Given the description of an element on the screen output the (x, y) to click on. 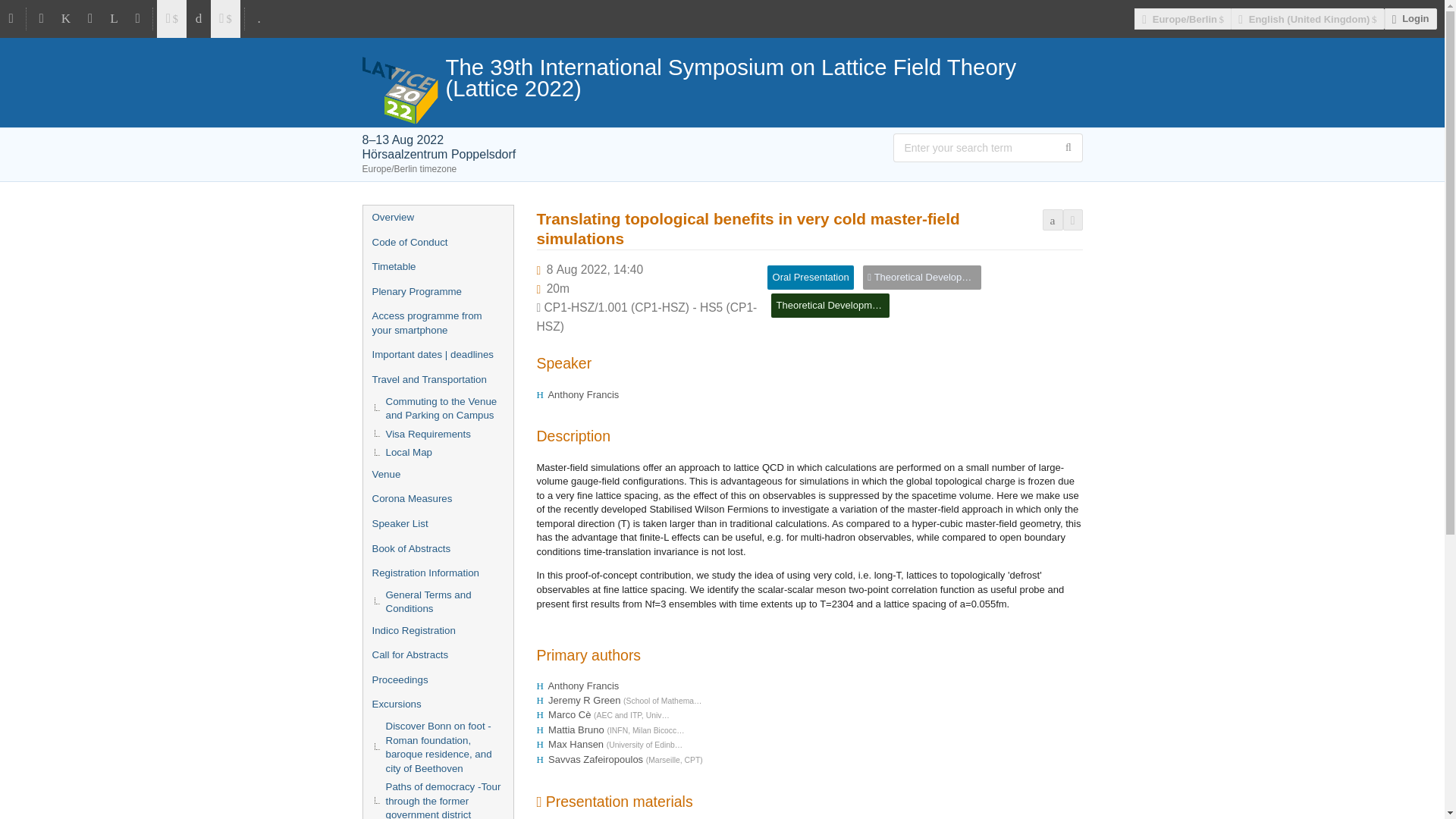
Login (1410, 19)
Export (1072, 219)
Duration (558, 287)
Travel and Transportation (437, 380)
Code of Conduct (437, 242)
Overview (437, 217)
Export to PDF (1052, 219)
Plenary Programme (437, 292)
Timetable (437, 267)
Commuting to the Venue and Parking on Campus (437, 409)
